Given the description of an element on the screen output the (x, y) to click on. 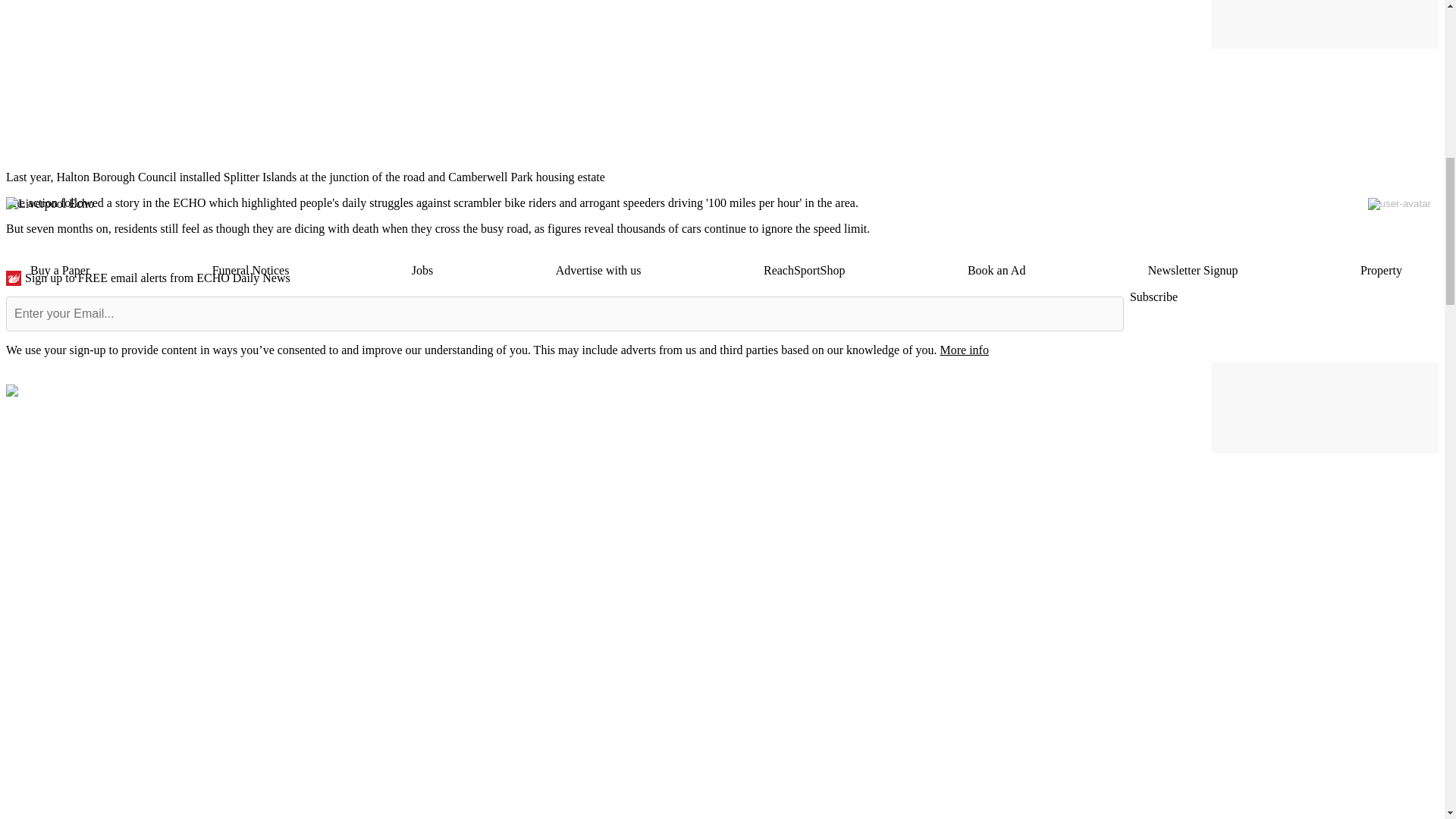
Halton Borough Council (116, 176)
Subscribe (1153, 297)
ECHO (189, 202)
More info (963, 349)
